Given the description of an element on the screen output the (x, y) to click on. 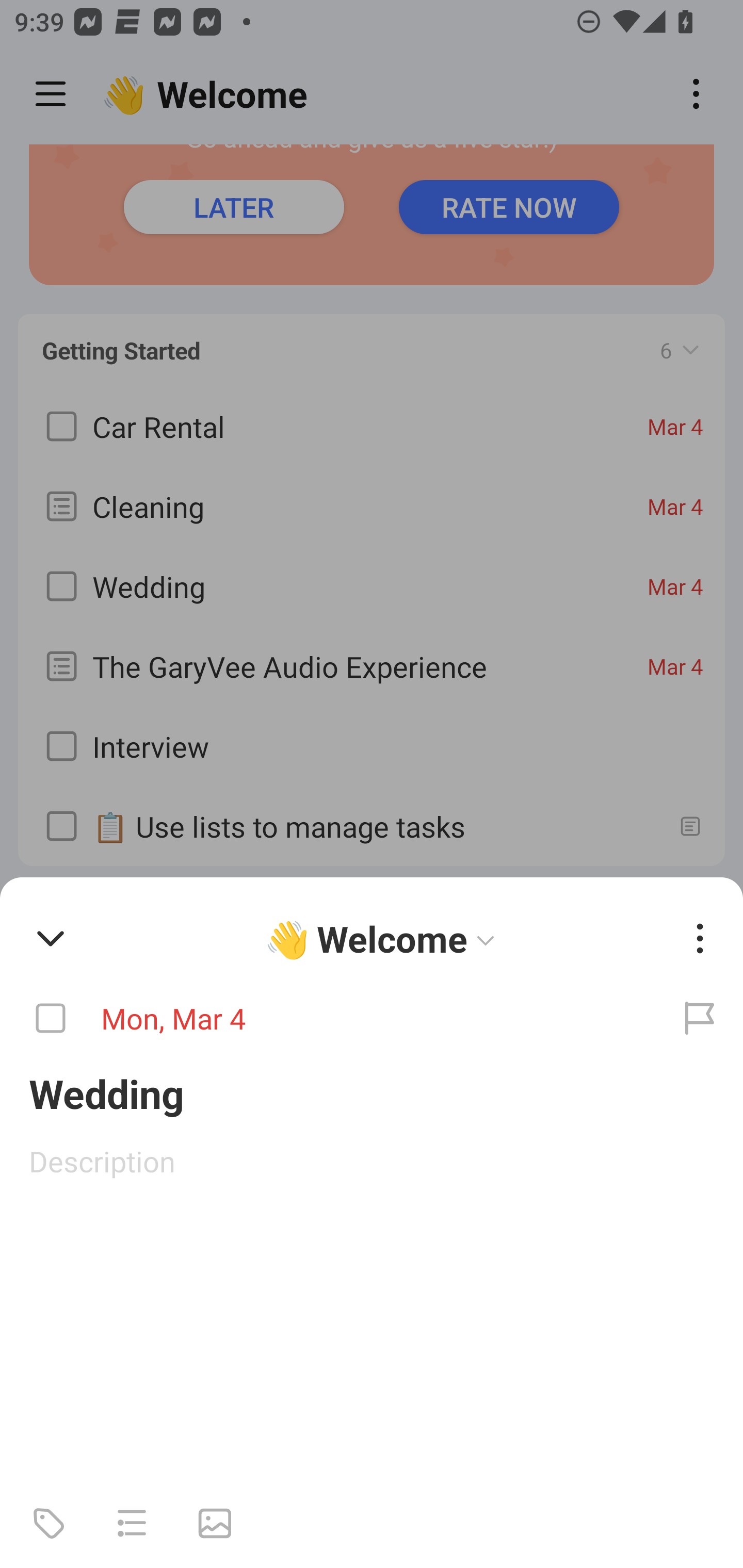
Key Features 4 (371, 910)
👋 Welcome (384, 938)
Mon, Mar 4  (328, 1019)
Wedding (371, 1092)
Description (371, 1160)
